Given the description of an element on the screen output the (x, y) to click on. 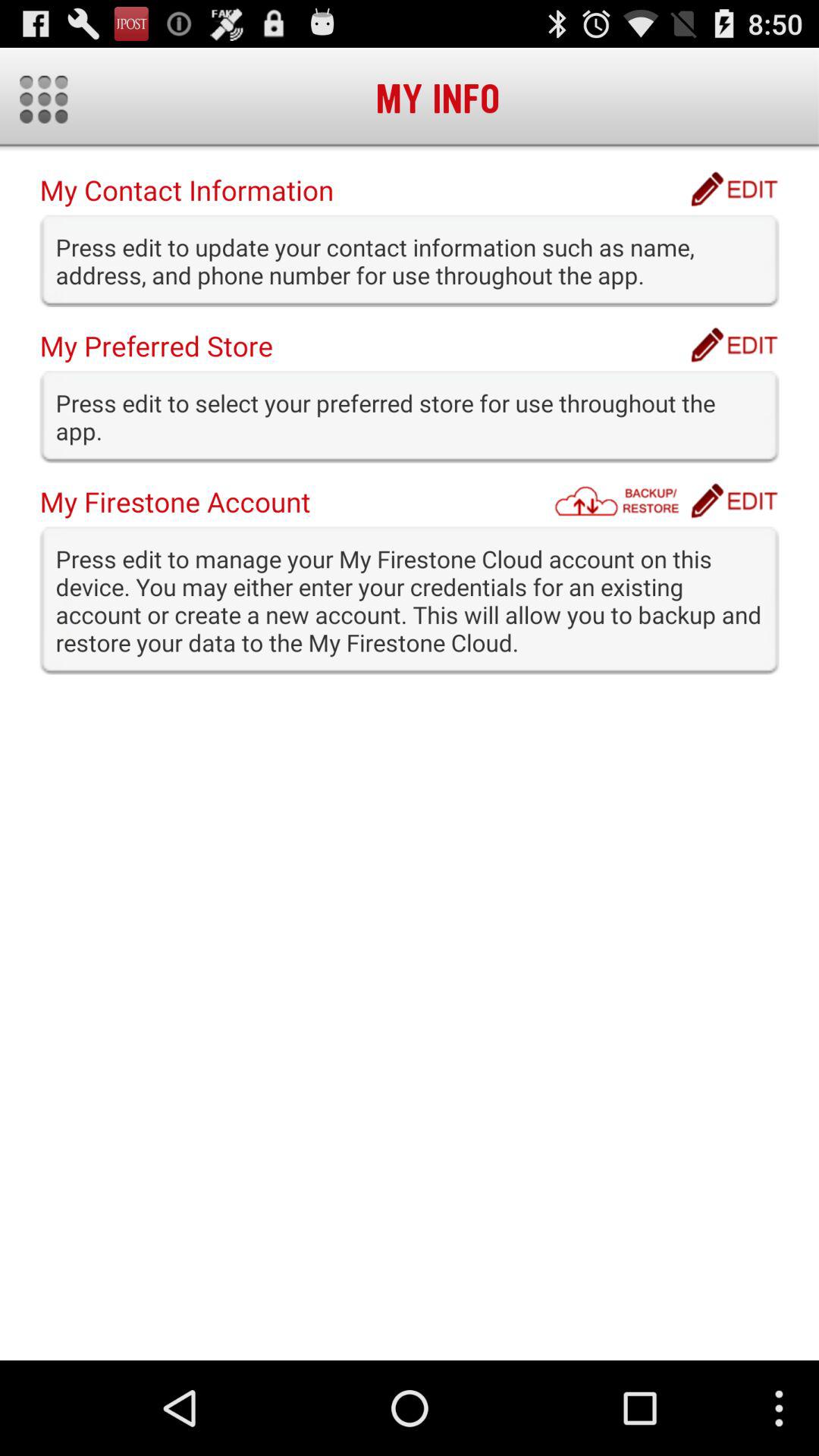
turn off the item to the right of the my firestone account item (621, 500)
